Given the description of an element on the screen output the (x, y) to click on. 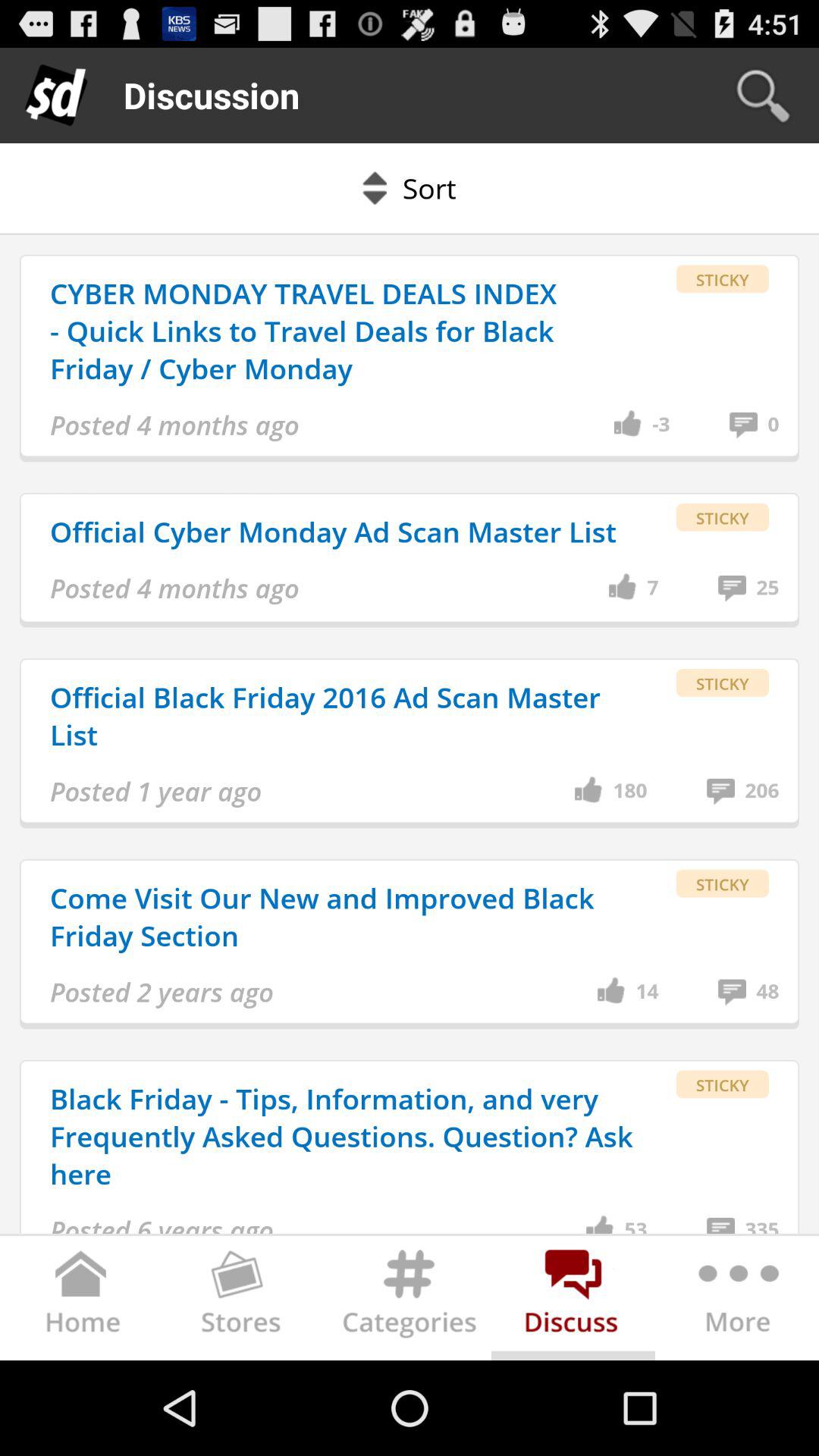
more button (736, 1300)
